Given the description of an element on the screen output the (x, y) to click on. 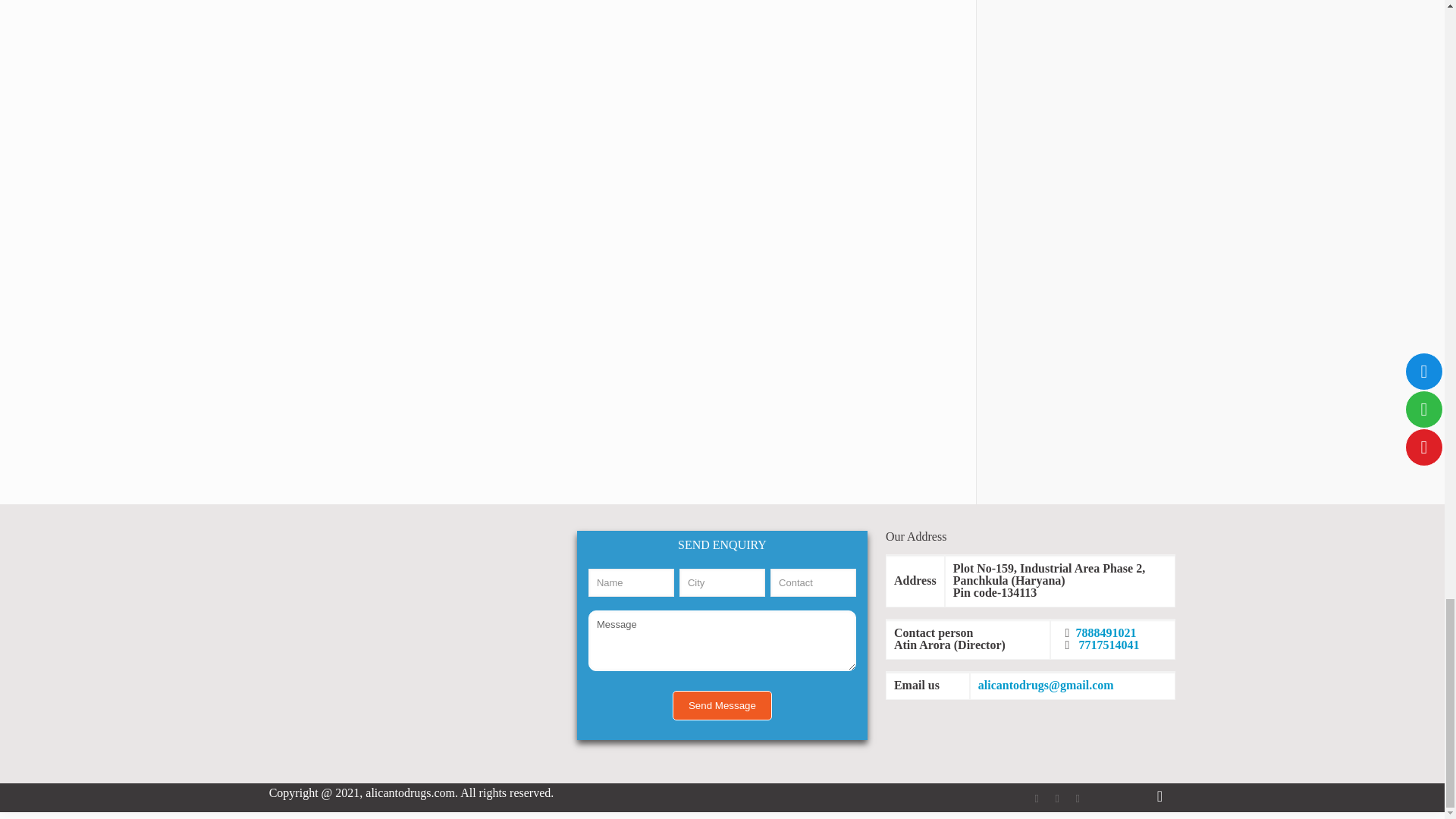
Send Message (721, 705)
Pinterest (1078, 798)
Facebook (1037, 798)
Twitter (1057, 798)
